Given the description of an element on the screen output the (x, y) to click on. 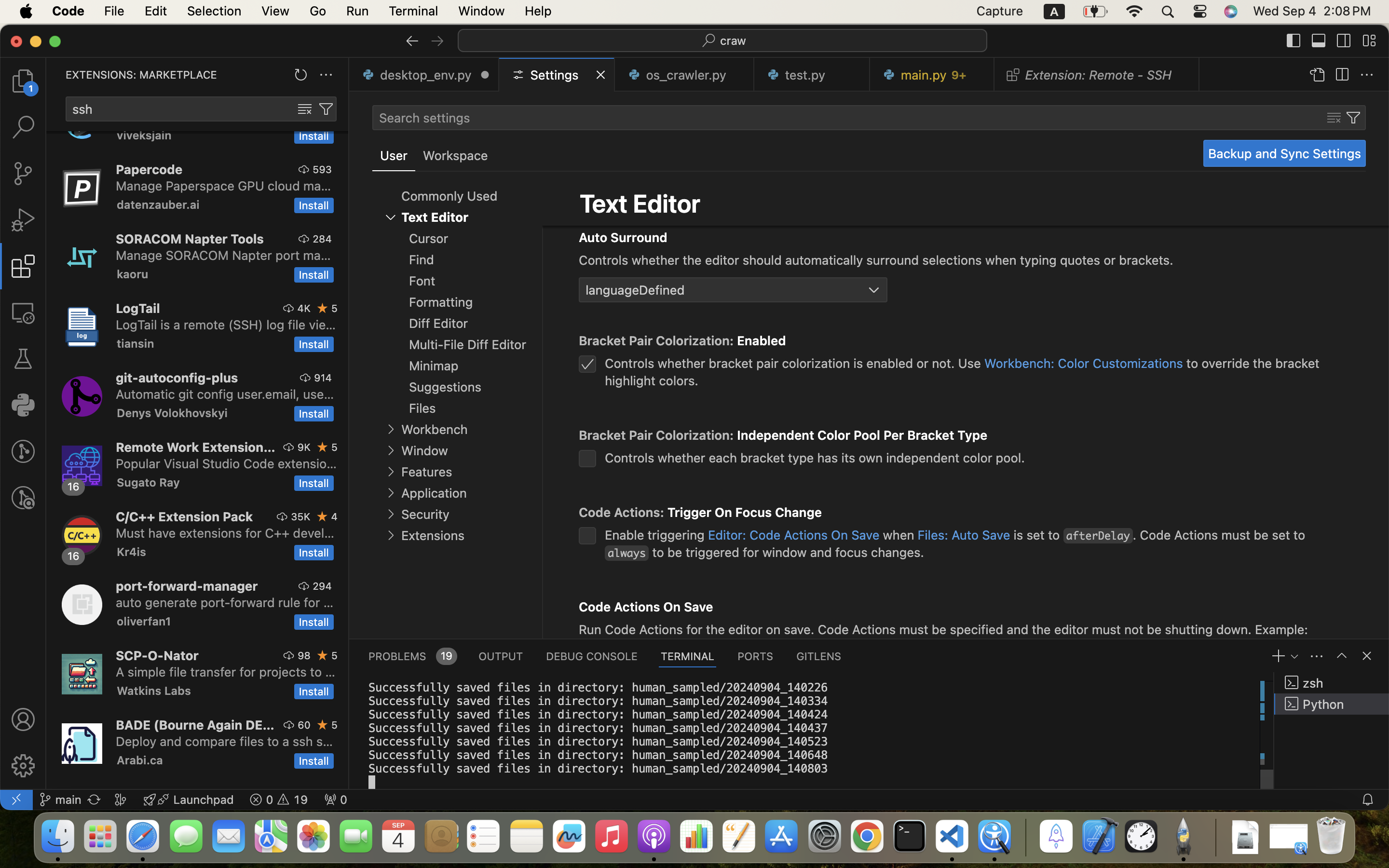
 Element type: AXButton (1369, 40)
60 Element type: AXStaticText (304, 724)
Security Element type: AXStaticText (425, 514)
Popular Visual Studio Code extensions for Remote Work Element type: AXStaticText (226, 463)
Code Actions: Element type: AXStaticText (622, 512)
